Given the description of an element on the screen output the (x, y) to click on. 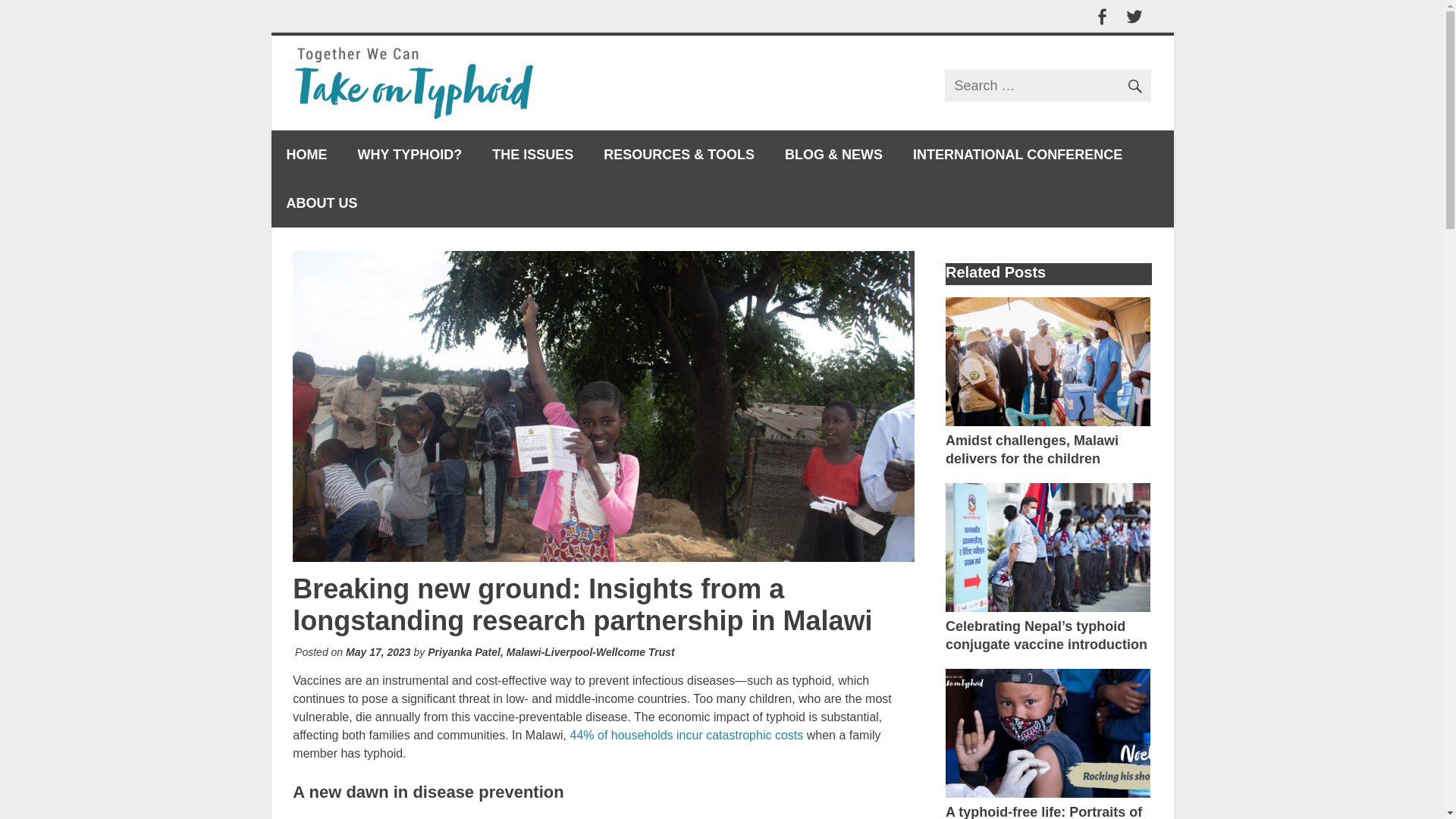
INTERNATIONAL CONFERENCE (1017, 154)
ABOUT US (321, 203)
THE ISSUES (532, 154)
5:06 PM (378, 652)
Take on Typhoid (662, 56)
HOME (306, 154)
WHY TYPHOID? (409, 154)
